Given the description of an element on the screen output the (x, y) to click on. 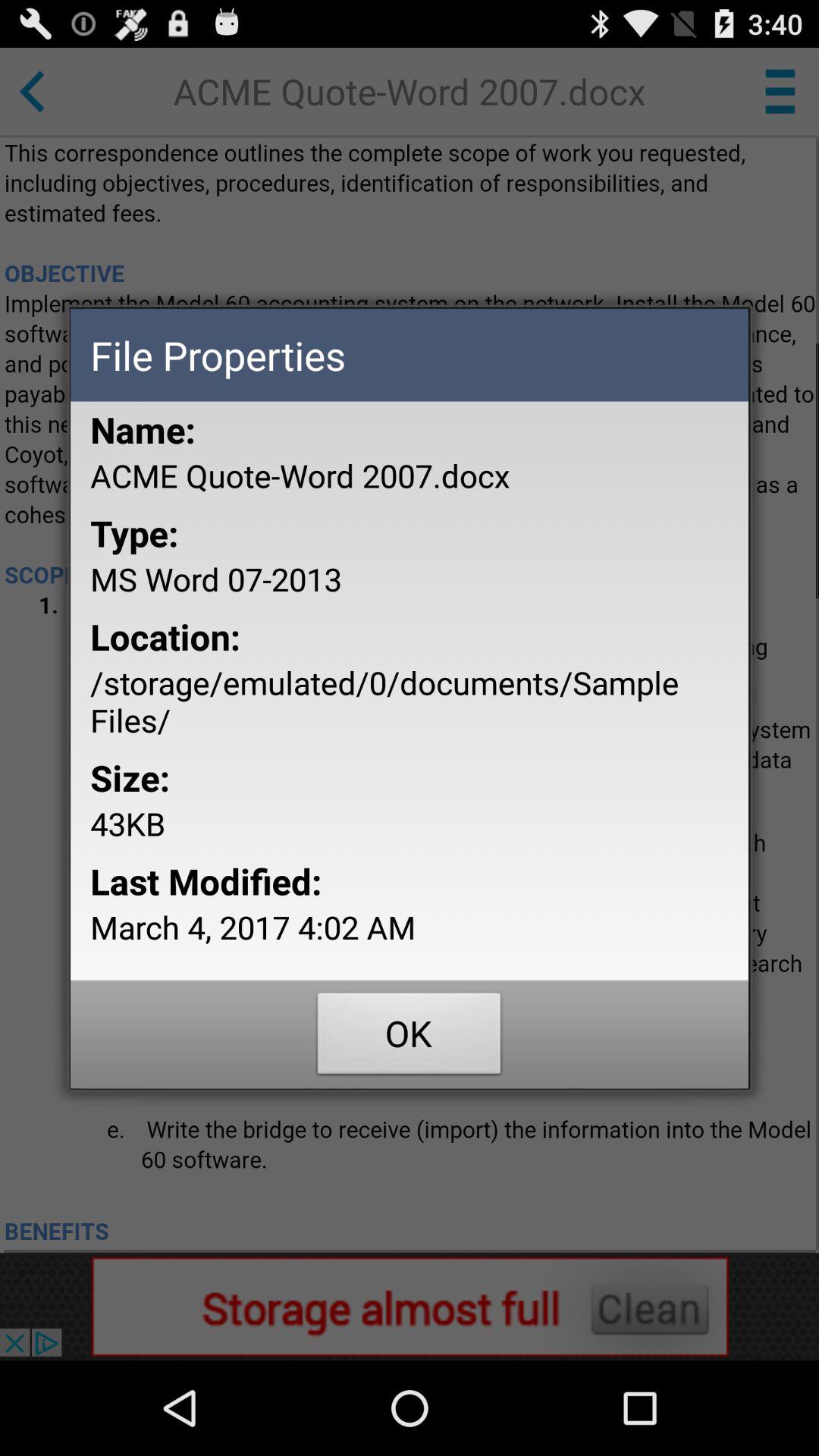
launch ok icon (409, 1037)
